Given the description of an element on the screen output the (x, y) to click on. 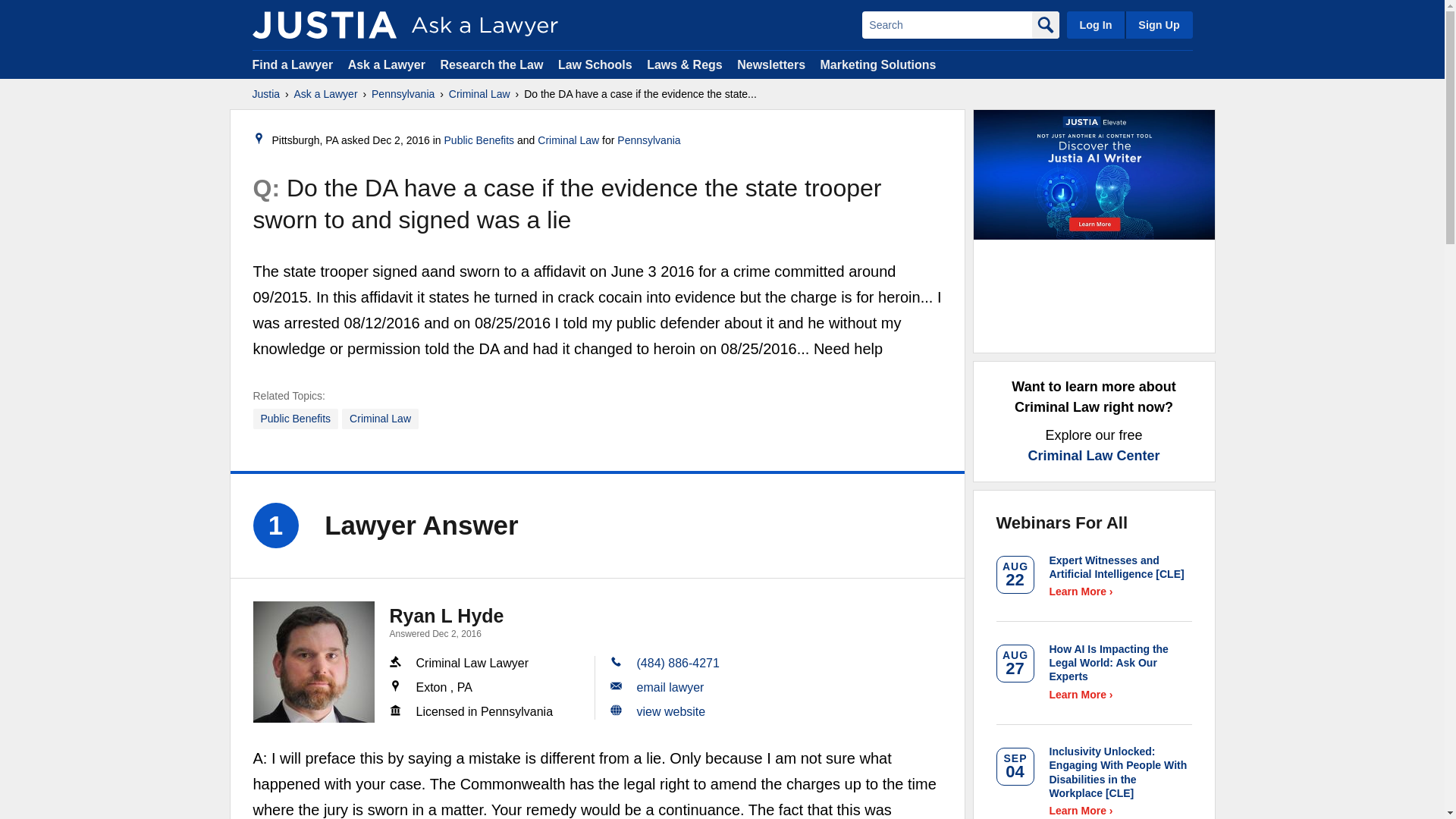
email lawyer (670, 686)
Pennsylvania (648, 140)
Justia (265, 93)
Sign Up (1158, 24)
Research the Law (491, 64)
Criminal Law (479, 93)
Search (945, 24)
Public Benefits (296, 418)
Ask a Lawyer (326, 93)
Pennsylvania (402, 93)
